Given the description of an element on the screen output the (x, y) to click on. 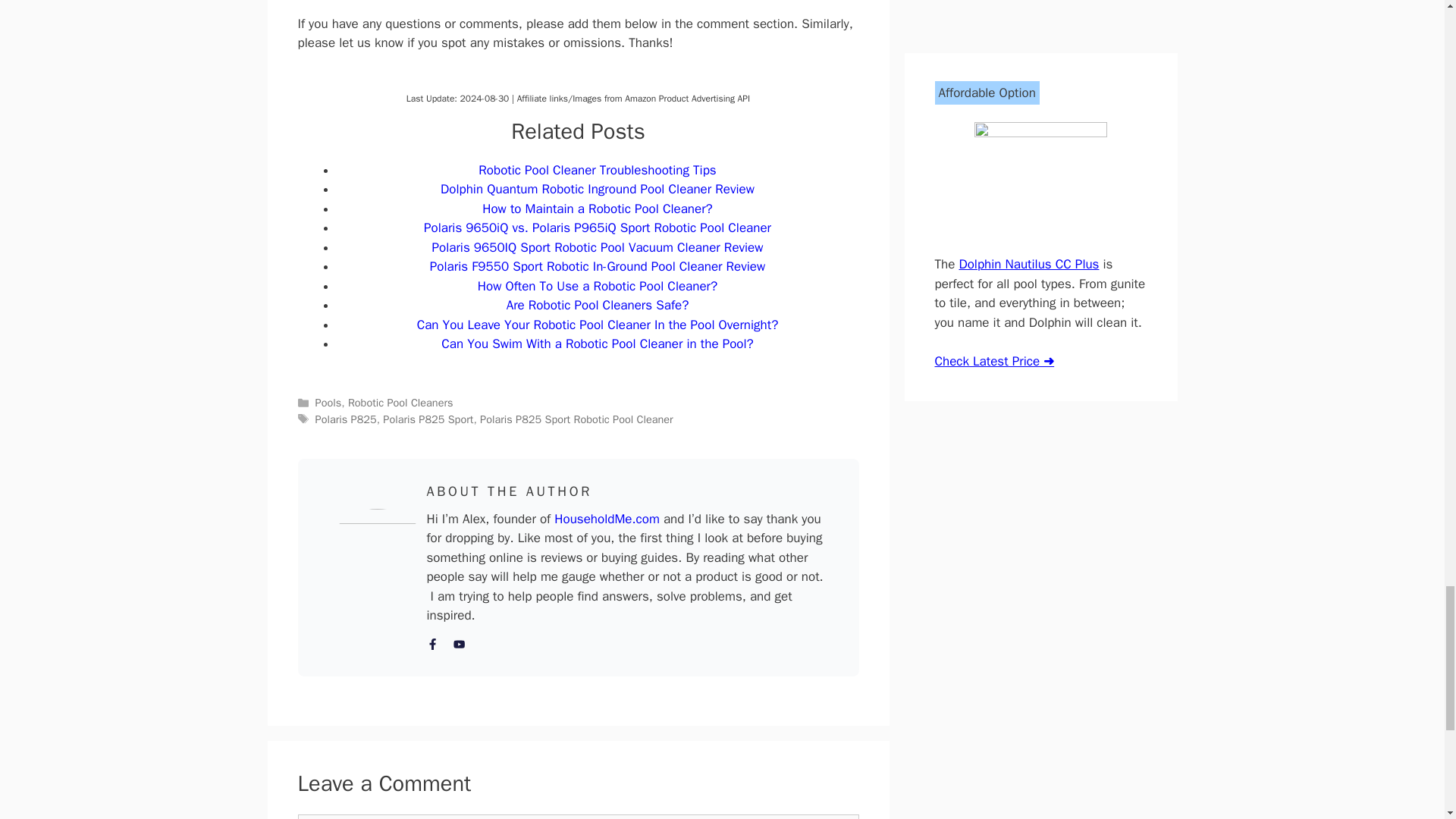
Robotic Pool Cleaner Troubleshooting Tips (597, 170)
How to Maintain a Robotic Pool Cleaner? (596, 208)
Dolphin Quantum Robotic Inground Pool Cleaner Review (597, 188)
